Given the description of an element on the screen output the (x, y) to click on. 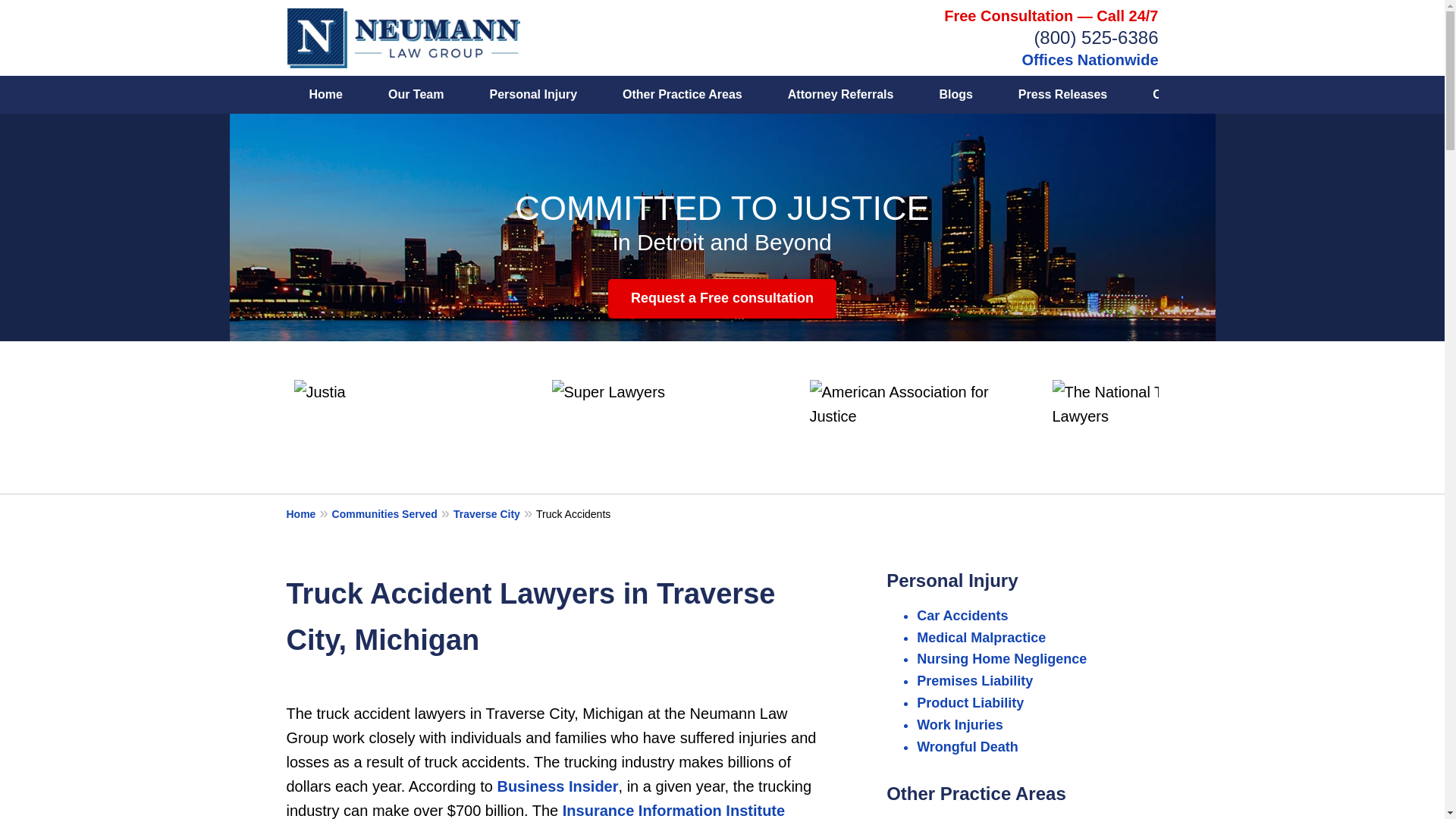
Offices Nationwide (1089, 59)
Request a Free consultation (721, 298)
Communities (1190, 94)
Press Releases (1062, 94)
Our Team (416, 94)
Attorney Referrals (841, 94)
Personal Injury (532, 94)
Home (325, 94)
Blogs (954, 94)
Communities Served (391, 513)
Home (308, 513)
Other Practice Areas (682, 94)
Contact Us (1306, 94)
